Given the description of an element on the screen output the (x, y) to click on. 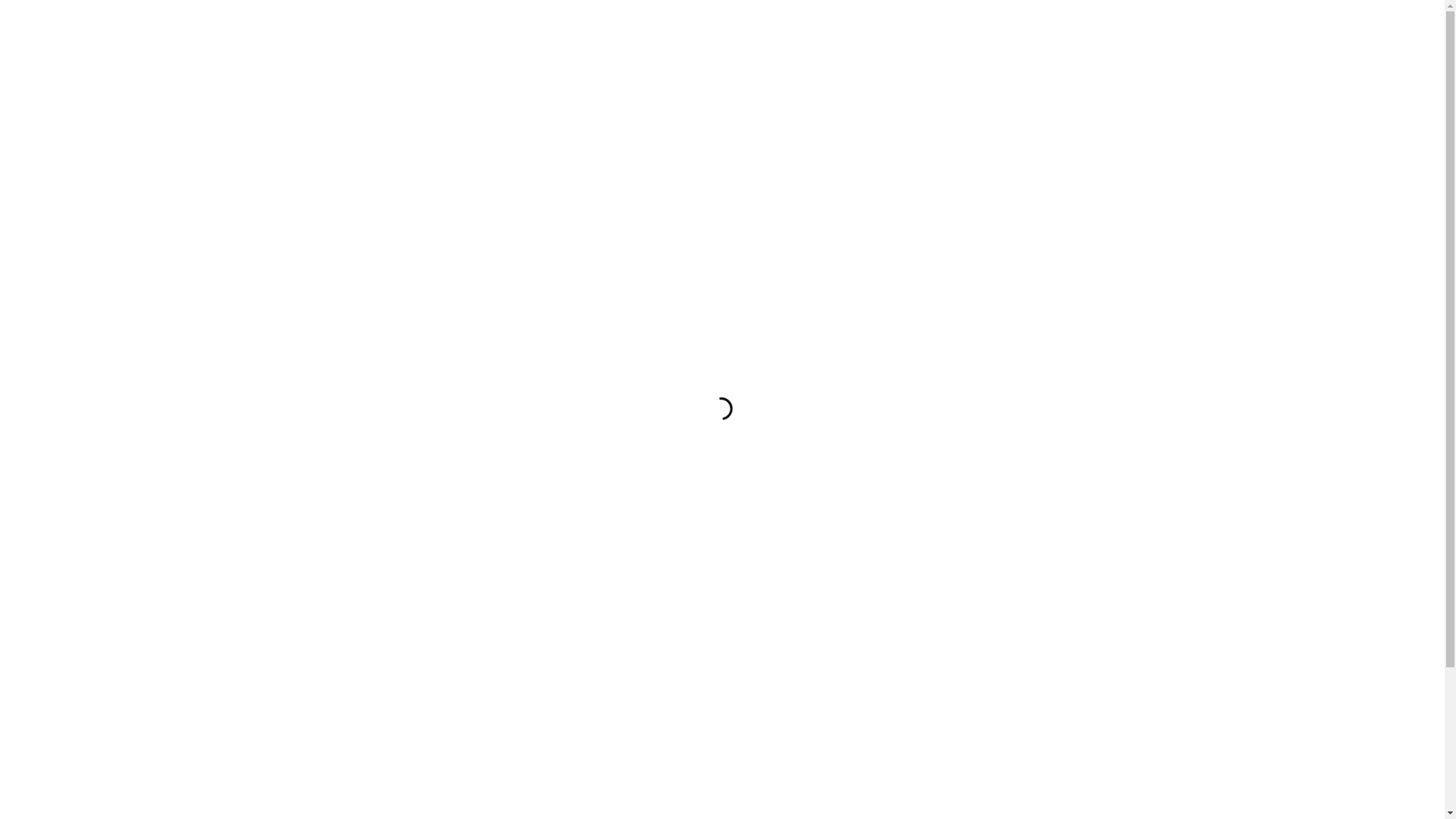
WEBBING Element type: text (346, 629)
CLOTHING Element type: text (346, 356)
BACKPACKS Element type: text (346, 243)
SLEEPING BAGS SWAGS Element type: text (346, 561)
WORKWEAR Element type: text (346, 607)
About Element type: text (722, 775)
0 Element type: text (1152, 137)
0 Element type: text (1155, 10)
(08) 9274 5900 Element type: text (359, 708)
KNIVES & MULTI-TOOLS Element type: text (346, 470)
CAMPING Element type: text (346, 334)
SHOP Element type: text (288, 137)
FOOTWEAR Element type: text (346, 447)
TORCHES & LIGHTS Element type: text (346, 584)
BADGES/PATCHES Element type: text (346, 265)
FLAGS Element type: text (346, 425)
FIRST AID / SURVIVAL Element type: text (346, 402)
Delivery Element type: text (722, 794)
BINOCULARS Element type: text (346, 311)
CONTACT Element type: text (529, 137)
MILITARY Element type: text (346, 493)
CLEARANCE Element type: text (349, 137)
Q STORE Element type: text (468, 137)
BAGS Element type: text (346, 288)
ABOUT Element type: text (412, 137)
PROSPECTING Element type: text (346, 516)
SECURITY / TACTICAL Element type: text (346, 538)
MDS-LOGO Element type: hover (722, 69)
COOKWARE Element type: text (346, 379)
ARMY SURPLUS Element type: text (346, 220)
CLEARANCE Element type: text (346, 197)
